Given the description of an element on the screen output the (x, y) to click on. 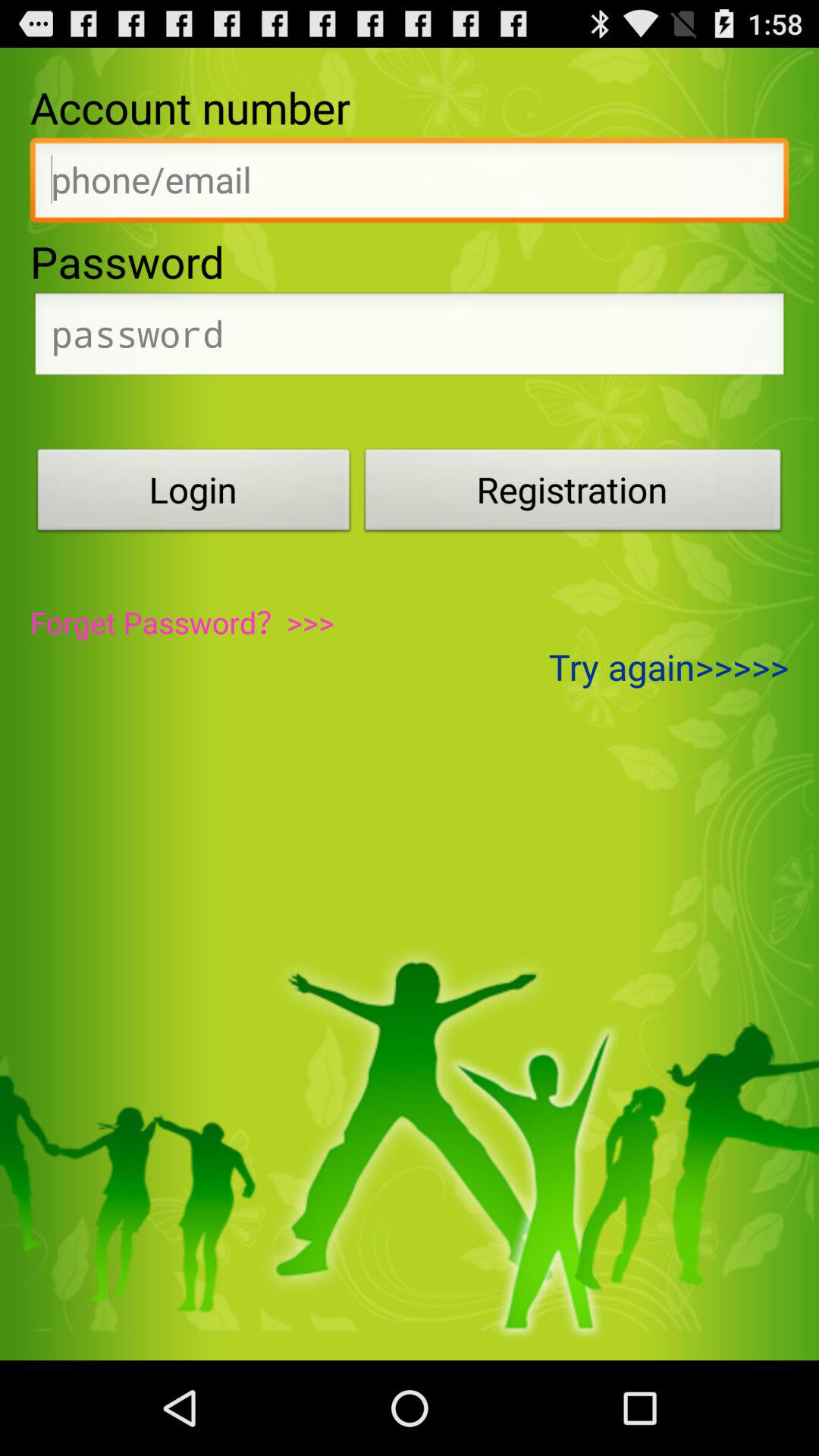
put in email (409, 184)
